Given the description of an element on the screen output the (x, y) to click on. 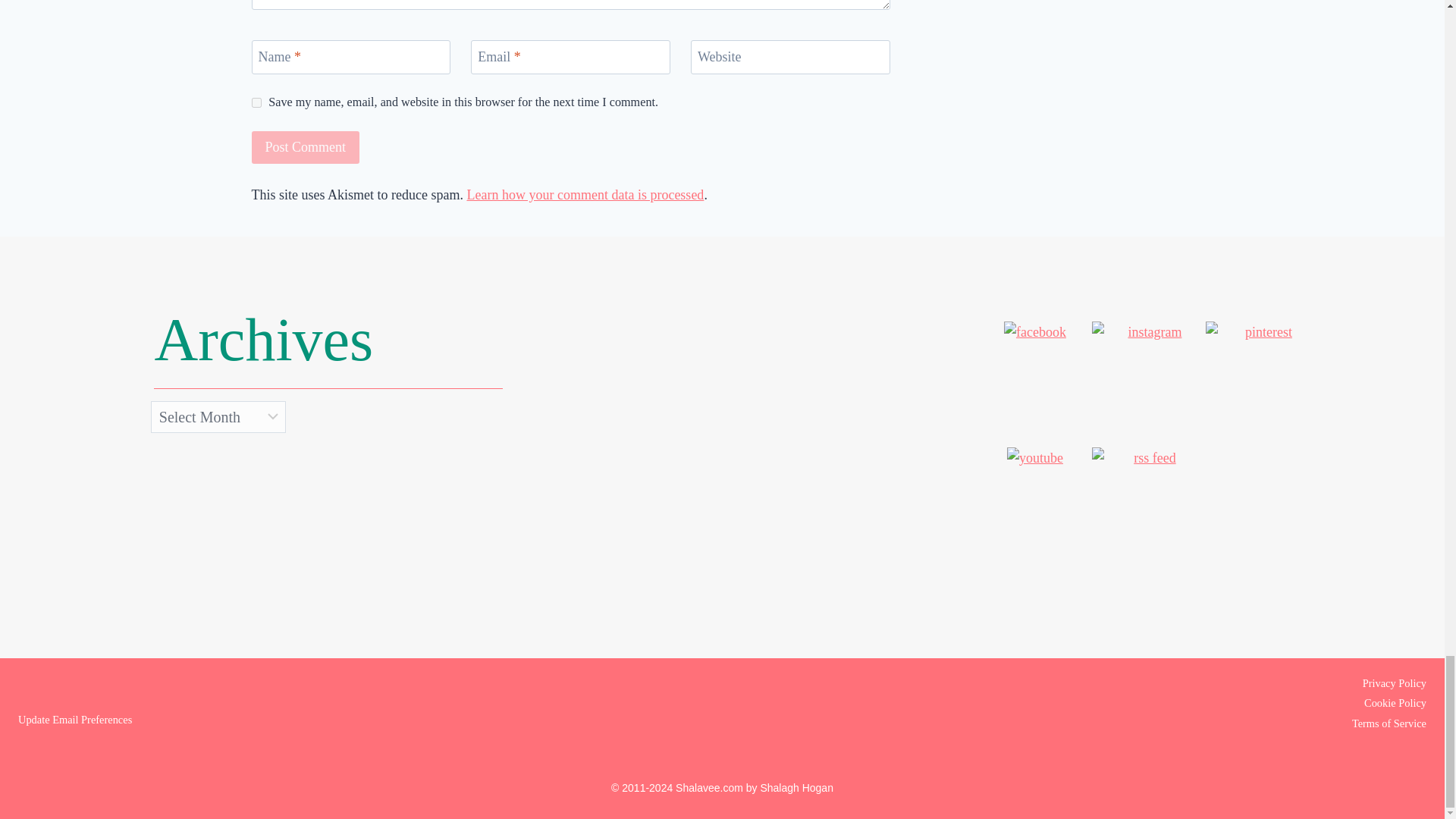
yes (256, 102)
Post Comment (305, 147)
